Given the description of an element on the screen output the (x, y) to click on. 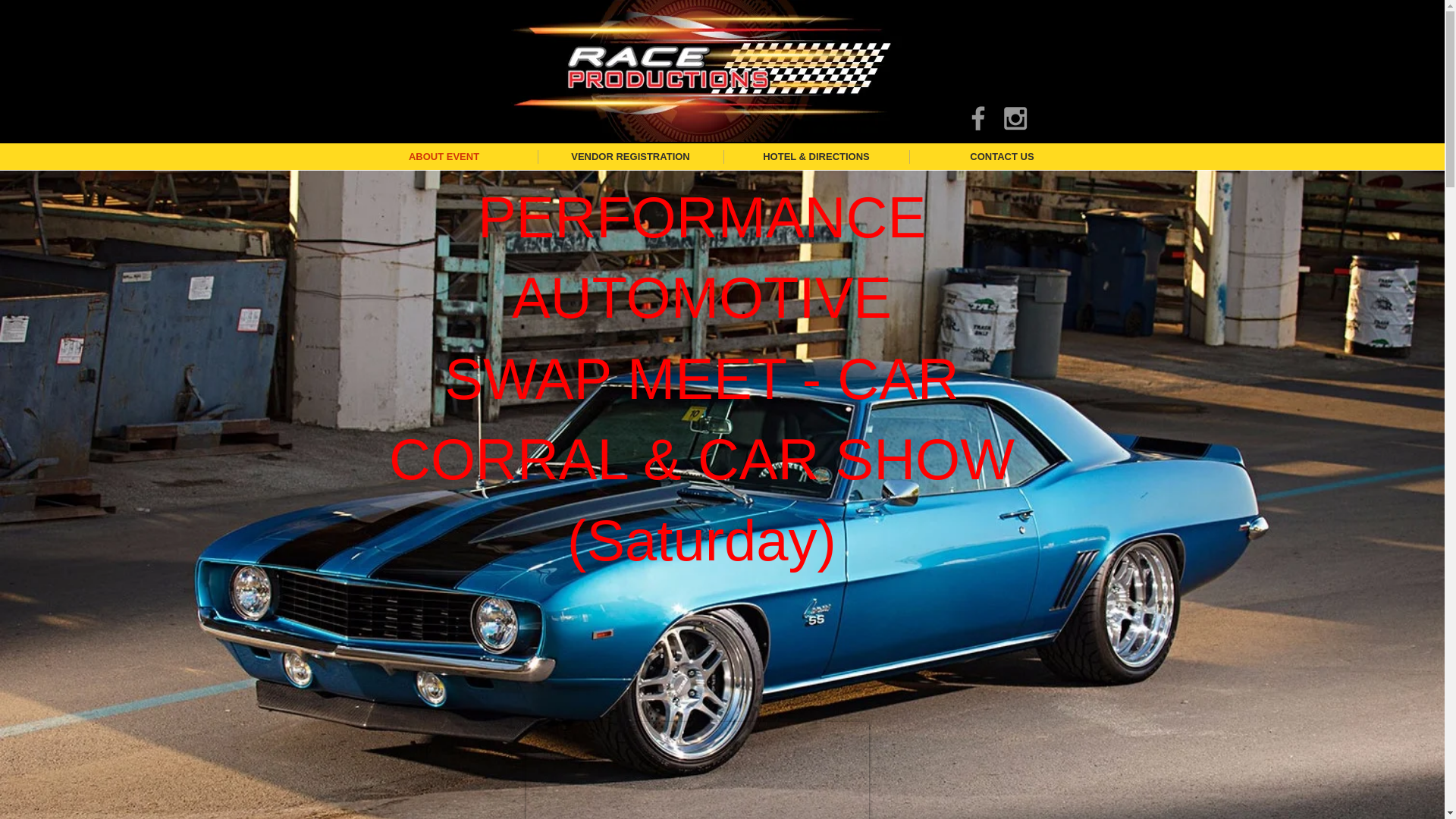
CONTACT US (1001, 156)
Auto Express (453, 38)
ABOUT EVENT (443, 156)
VENDOR REGISTRATION (629, 156)
